Given the description of an element on the screen output the (x, y) to click on. 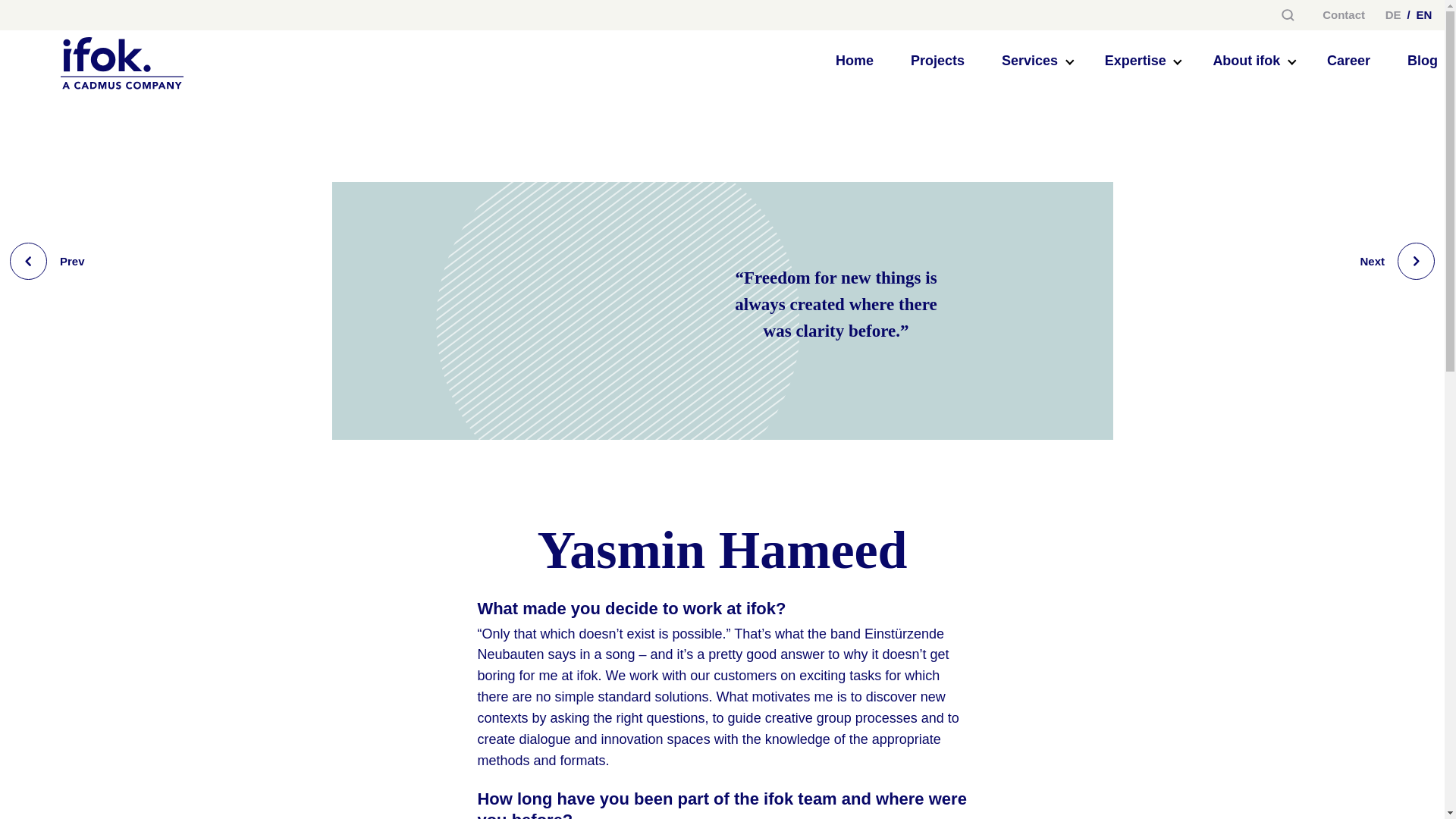
EN (1424, 15)
Projects (937, 60)
Home (854, 60)
DE (1393, 15)
Contact (1343, 15)
Career (1348, 60)
Open search (1396, 261)
Search (1287, 14)
Services (47, 261)
Open Cookie Preferences (934, 48)
Blog (1029, 60)
ifok en (32, 798)
About ifok (1422, 60)
